Given the description of an element on the screen output the (x, y) to click on. 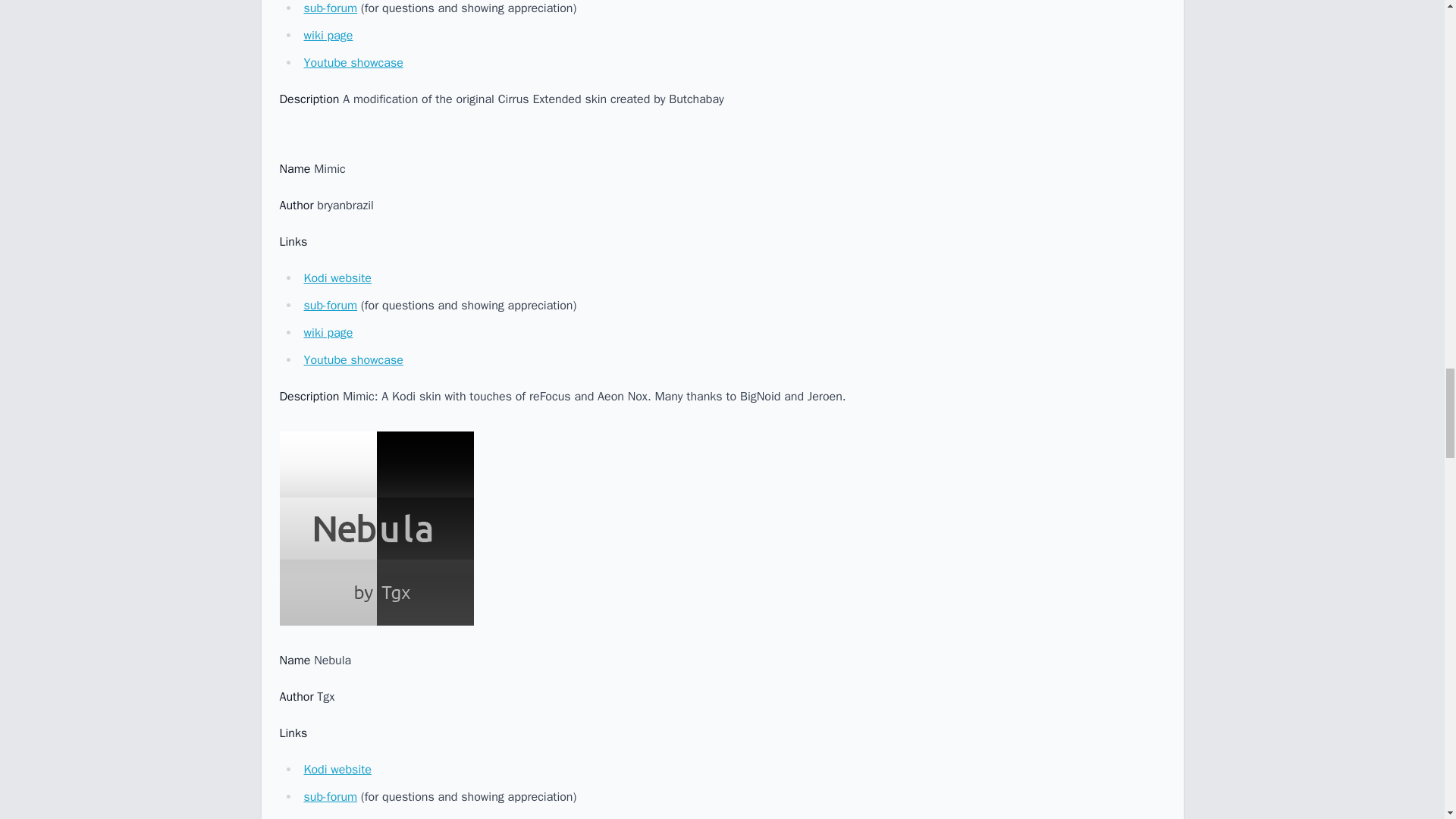
sub-forum (329, 305)
wiki page (327, 817)
Youtube showcase (352, 359)
sub-forum (329, 796)
Kodi website (336, 278)
Kodi website (336, 769)
wiki page (327, 332)
sub-forum (329, 7)
wiki page (327, 35)
Youtube showcase (352, 62)
